Given the description of an element on the screen output the (x, y) to click on. 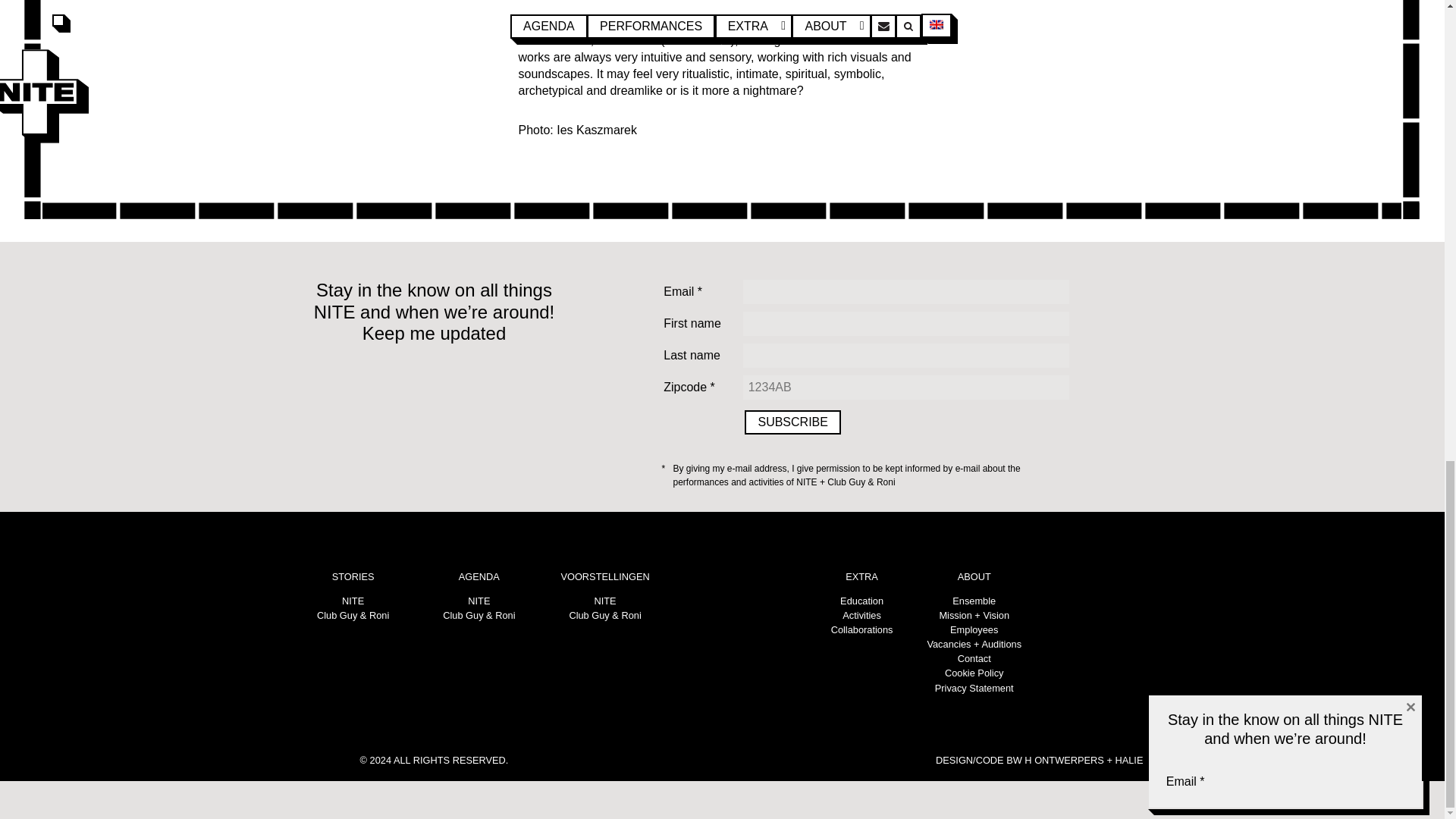
NITE (478, 600)
Subscribe (792, 422)
EXTRA (861, 576)
NITE (353, 600)
Subscribe (792, 422)
NITE (604, 600)
BW H Ontwerpers (1054, 759)
Education (861, 600)
Halie (1128, 759)
